Given the description of an element on the screen output the (x, y) to click on. 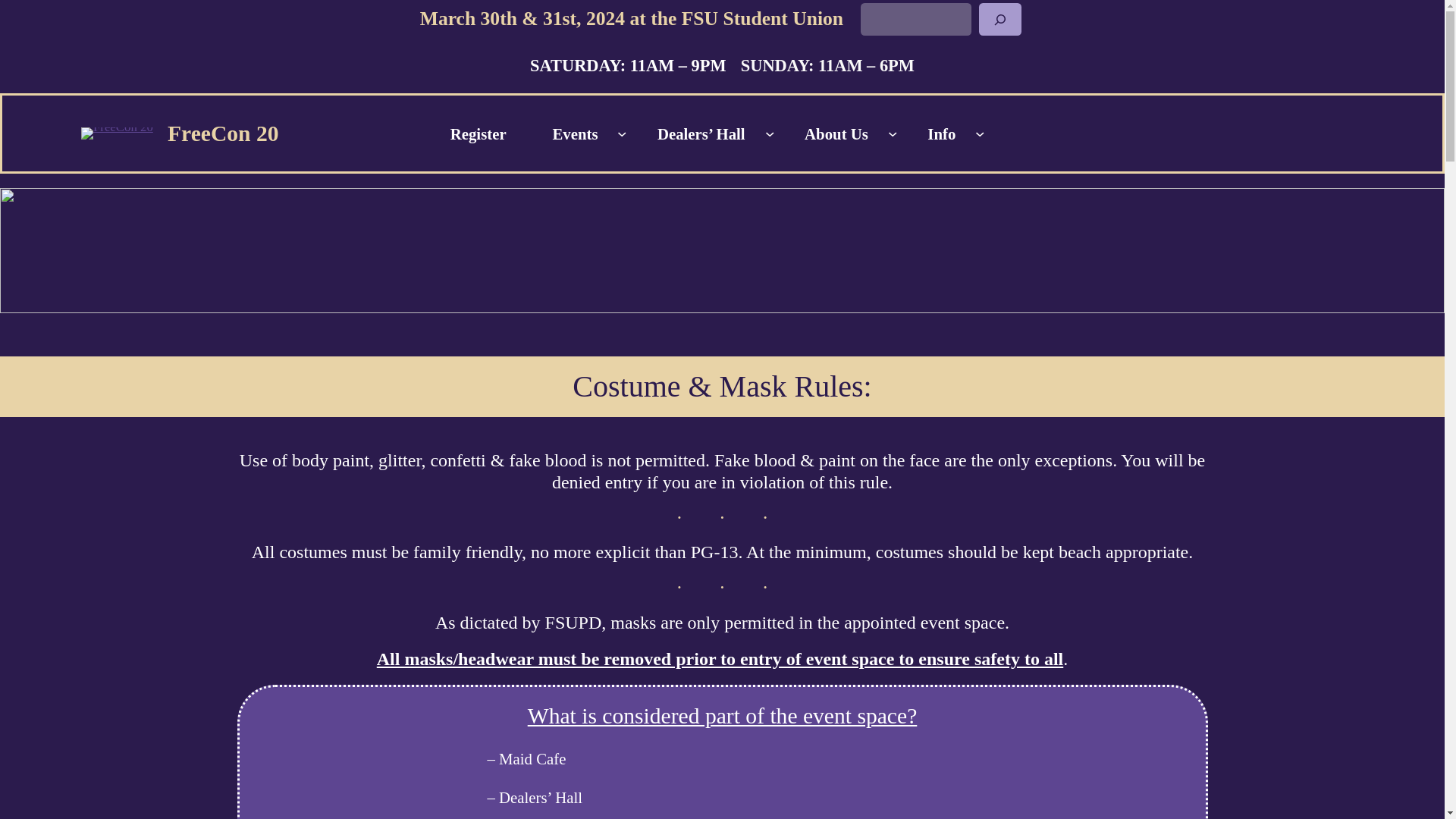
Info (942, 133)
About Us (836, 133)
FreeCon 20 (223, 133)
Register (477, 133)
Events (575, 133)
